Given the description of an element on the screen output the (x, y) to click on. 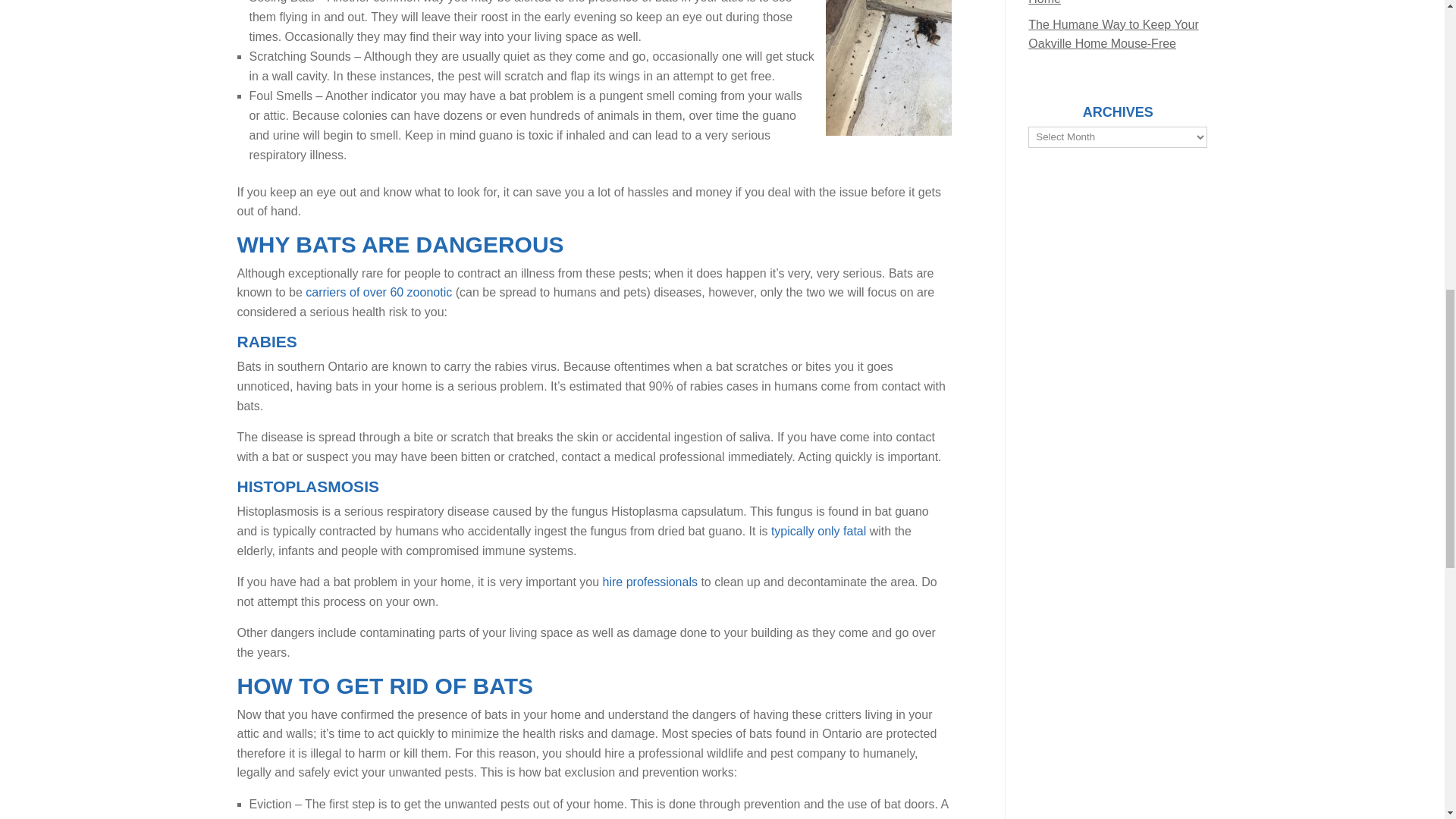
carriers of over 60 zoonotic (378, 291)
hire professionals (649, 581)
typically only fatal (818, 530)
